Given the description of an element on the screen output the (x, y) to click on. 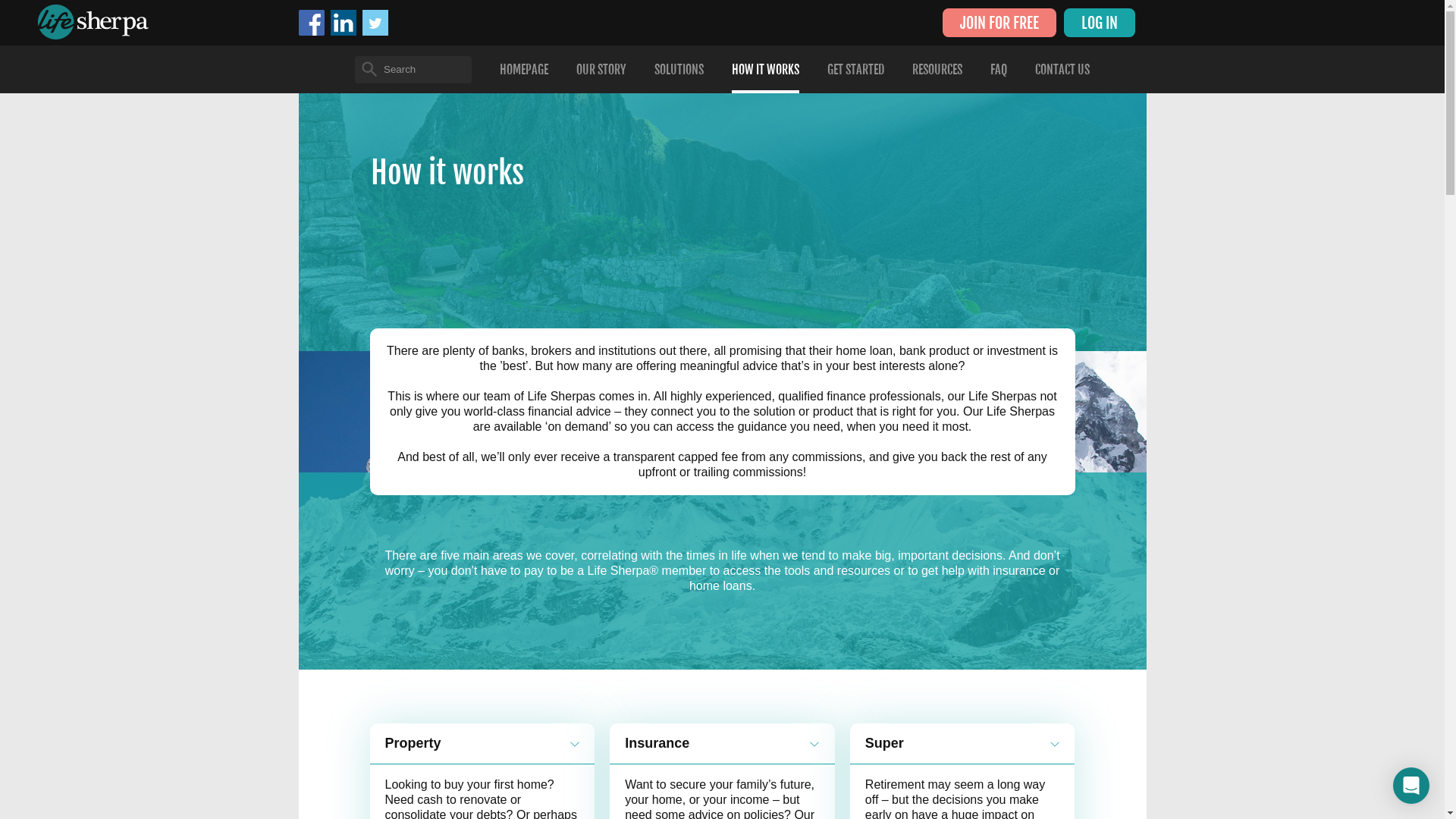
FAQ Element type: text (998, 69)
CONTACT US Element type: text (1062, 69)
HOW IT WORKS Element type: text (765, 69)
GET STARTED Element type: text (855, 69)
SOLUTIONS Element type: text (678, 69)
OUR STORY Element type: text (601, 69)
HOMEPAGE Element type: text (523, 69)
RESOURCES Element type: text (937, 69)
JOIN FOR FREE Element type: text (998, 22)
LOG IN Element type: text (1098, 22)
Life Sherpa Element type: text (92, 21)
